Given the description of an element on the screen output the (x, y) to click on. 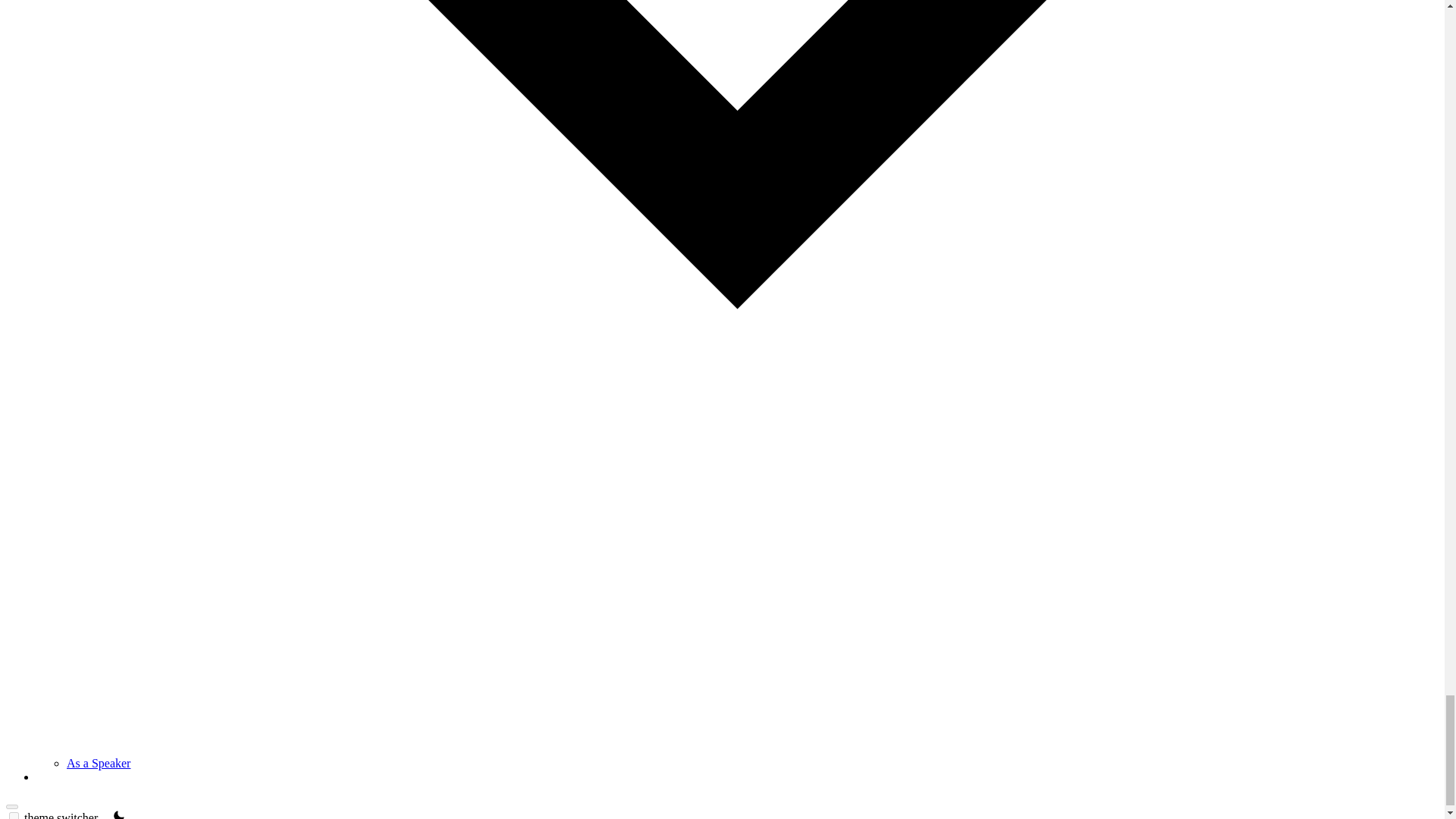
As a Speaker (98, 762)
